Given the description of an element on the screen output the (x, y) to click on. 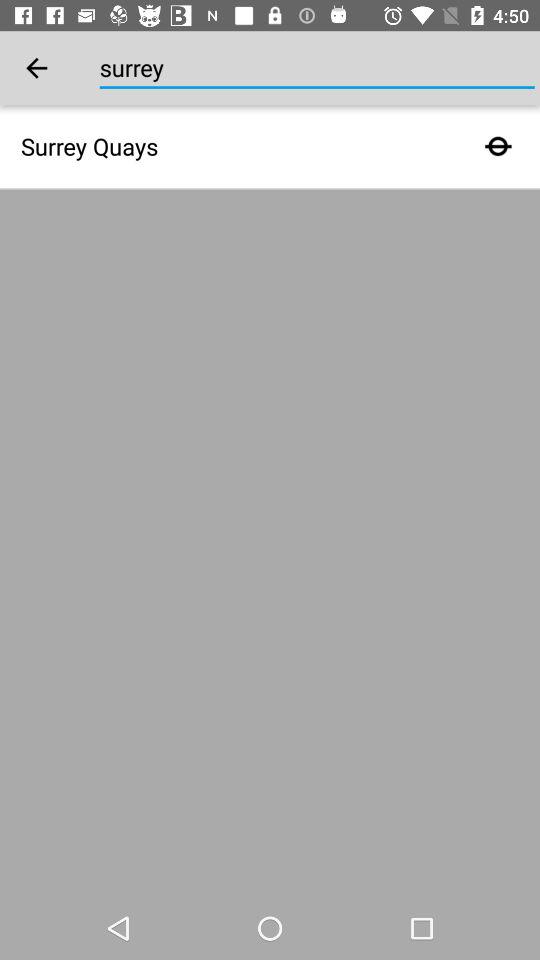
turn on the item above surrey quays icon (36, 68)
